Given the description of an element on the screen output the (x, y) to click on. 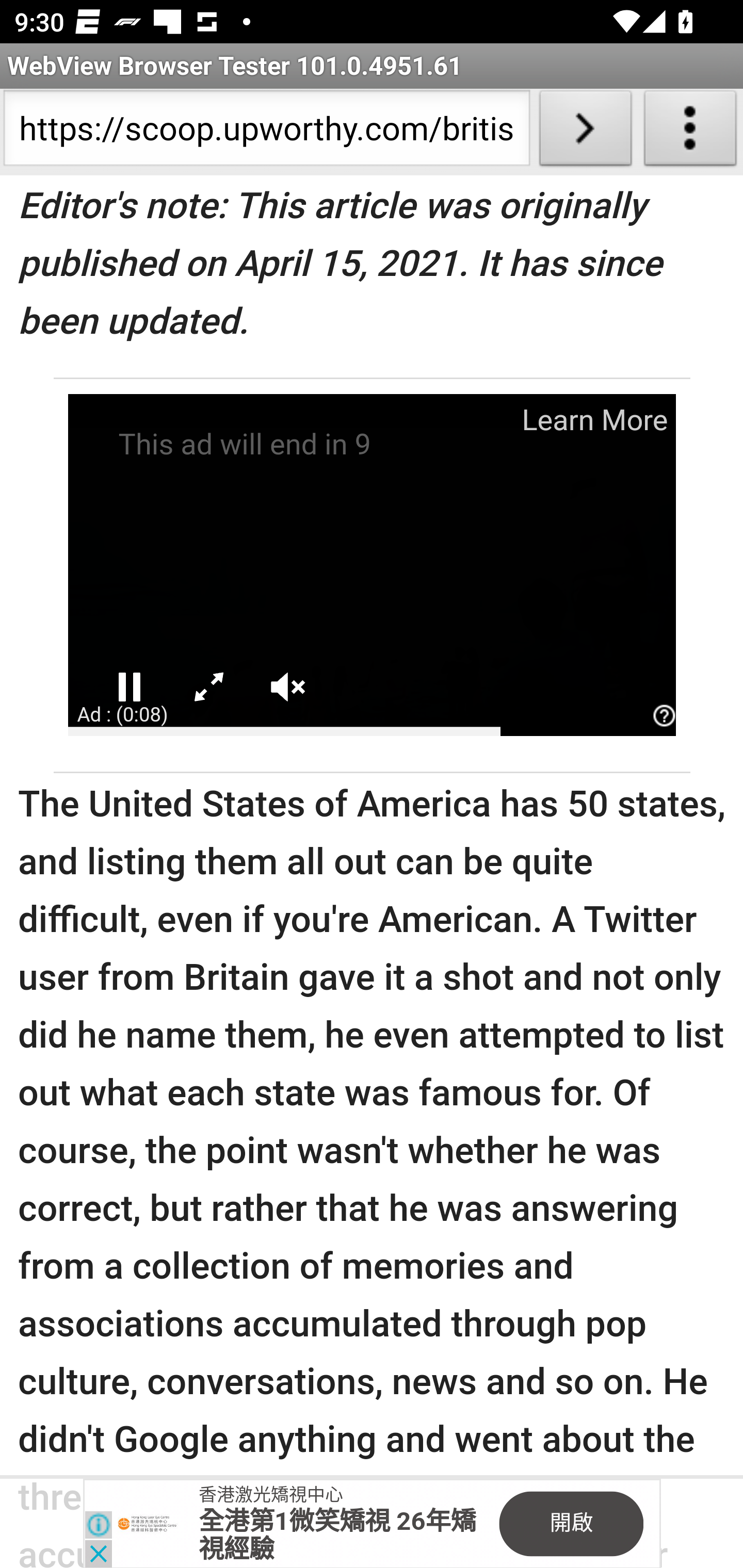
Load URL (585, 132)
About WebView (690, 132)
Learn More (593, 420)
Pause (128, 688)
Fullscreen (207, 688)
Volume (287, 688)
Ad : (0:09) (122, 715)
help_outline_white_24dp_with_3px_trbl_padding (663, 717)
香港激光矯視中心 (271, 1495)
開啟 (571, 1525)
全港第1微笑矯視 26年矯 視經驗 全港第1微笑矯視 26年矯 視經驗 (337, 1537)
